Given the description of an element on the screen output the (x, y) to click on. 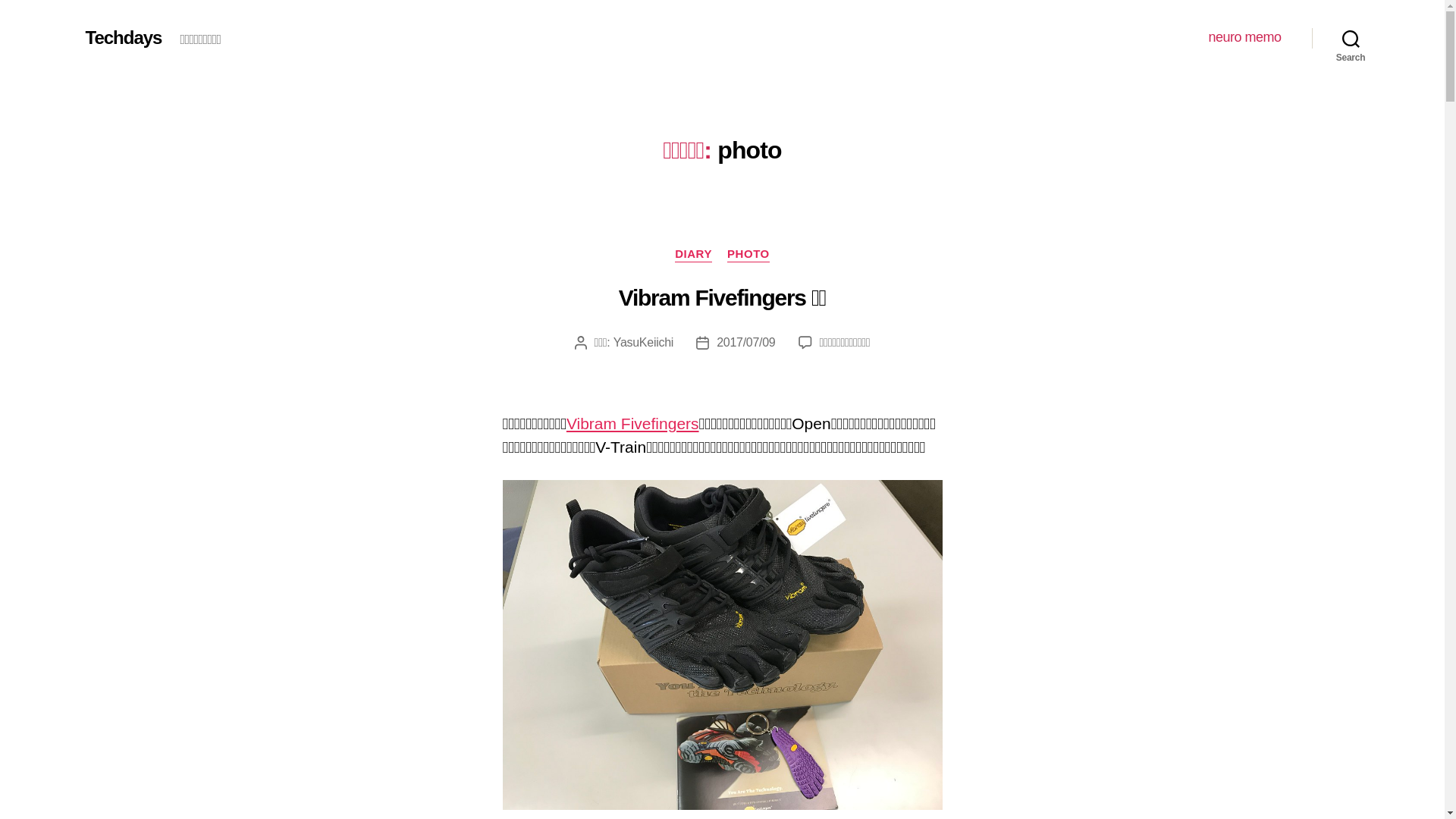
2017/07/09 Element type: text (745, 341)
PHOTO Element type: text (748, 254)
DIARY Element type: text (693, 254)
Untitled Element type: hover (721, 644)
YasuKeiichi Element type: text (643, 341)
Techdays Element type: text (122, 37)
Search Element type: text (1350, 37)
Vibram Fivefingers Element type: text (632, 423)
neuro memo Element type: text (1244, 37)
